Given the description of an element on the screen output the (x, y) to click on. 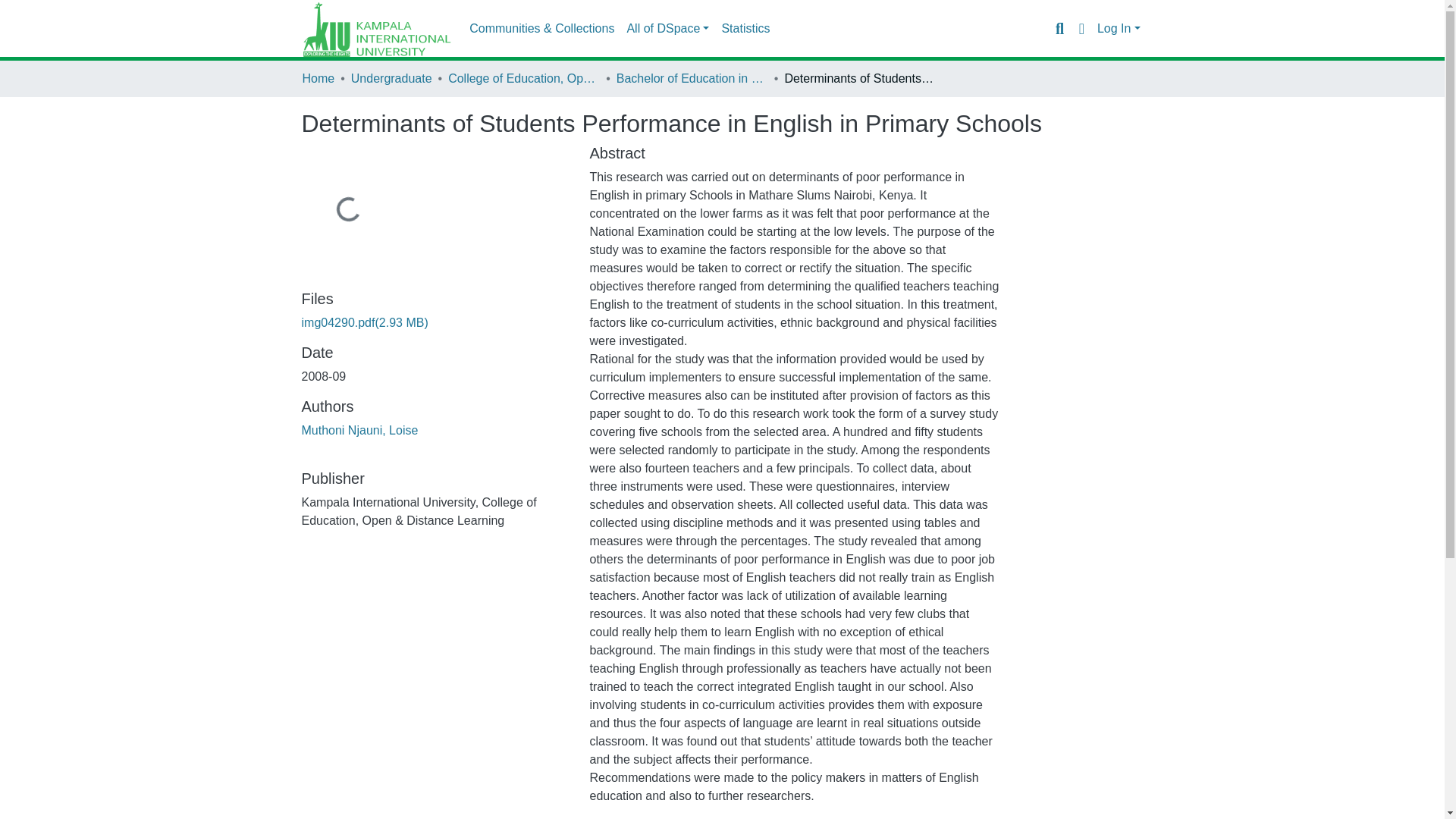
Muthoni Njauni, Loise (360, 430)
Search (1058, 28)
Language switch (1081, 28)
Log In (1118, 28)
College of Education, Open and Distance Learning (523, 78)
Statistics (745, 28)
All of DSpace (667, 28)
Undergraduate (391, 78)
Home (317, 78)
